Given the description of an element on the screen output the (x, y) to click on. 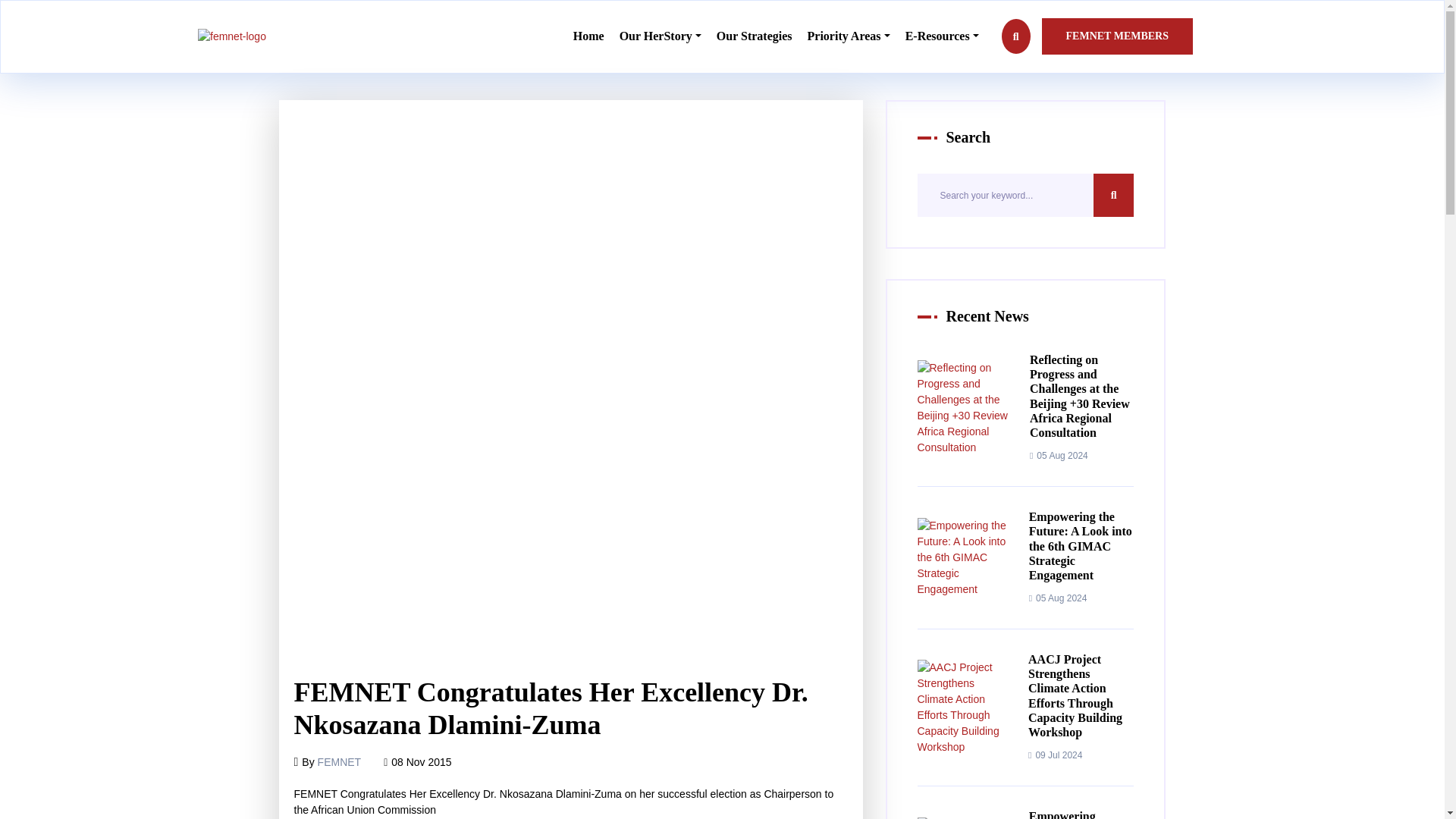
E-Resources (941, 36)
Our HerStory (660, 36)
Our HerStory (660, 36)
Priority Areas (848, 36)
Our Strategies (754, 36)
E-Resources (941, 36)
FEMNET MEMBERS (1117, 36)
Our Strategies (754, 36)
Priority Areas (848, 36)
FEMNET (339, 761)
